Given the description of an element on the screen output the (x, y) to click on. 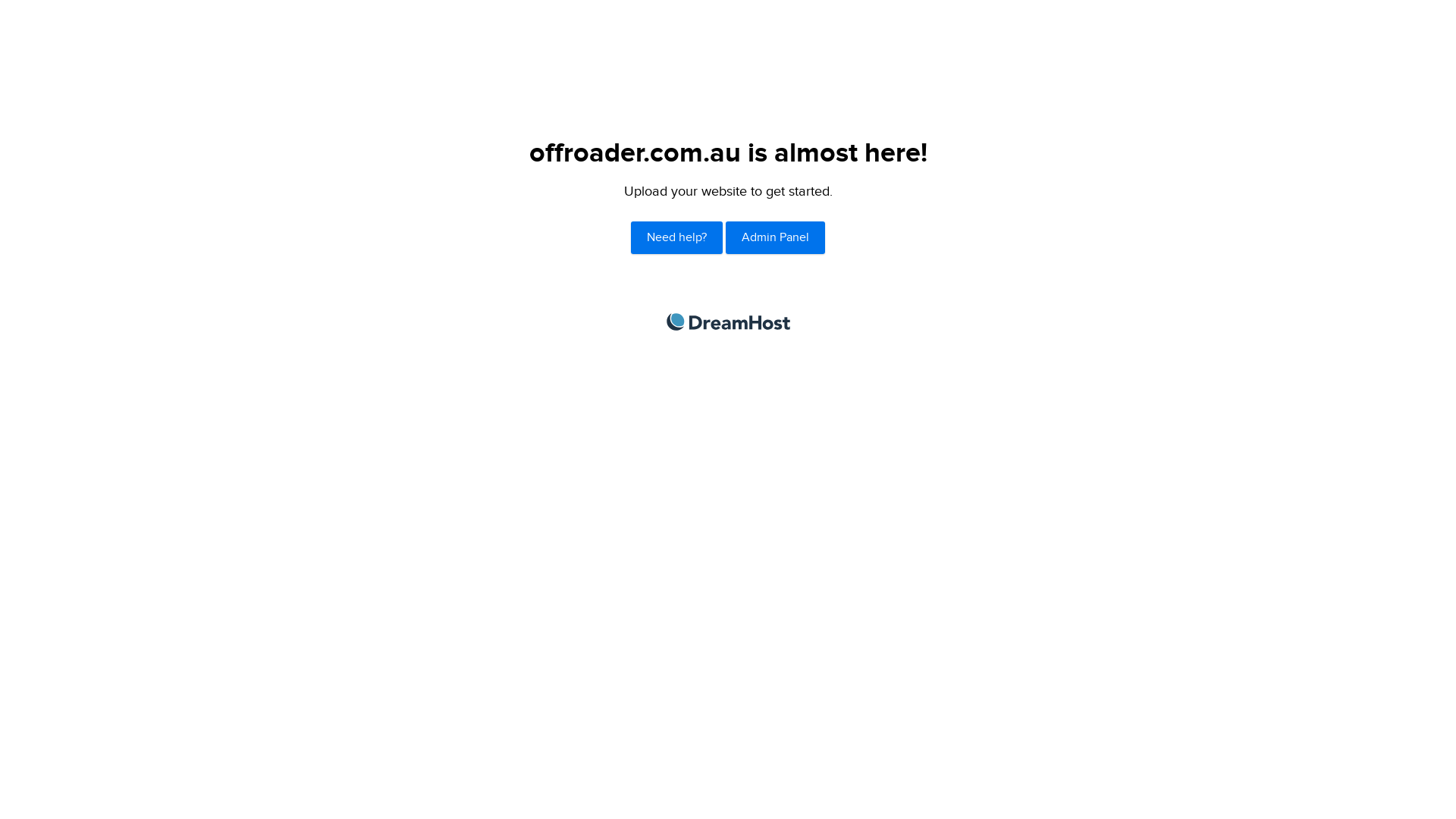
Need help? Element type: text (676, 237)
DreamHost Element type: text (727, 320)
Admin Panel Element type: text (775, 237)
